Given the description of an element on the screen output the (x, y) to click on. 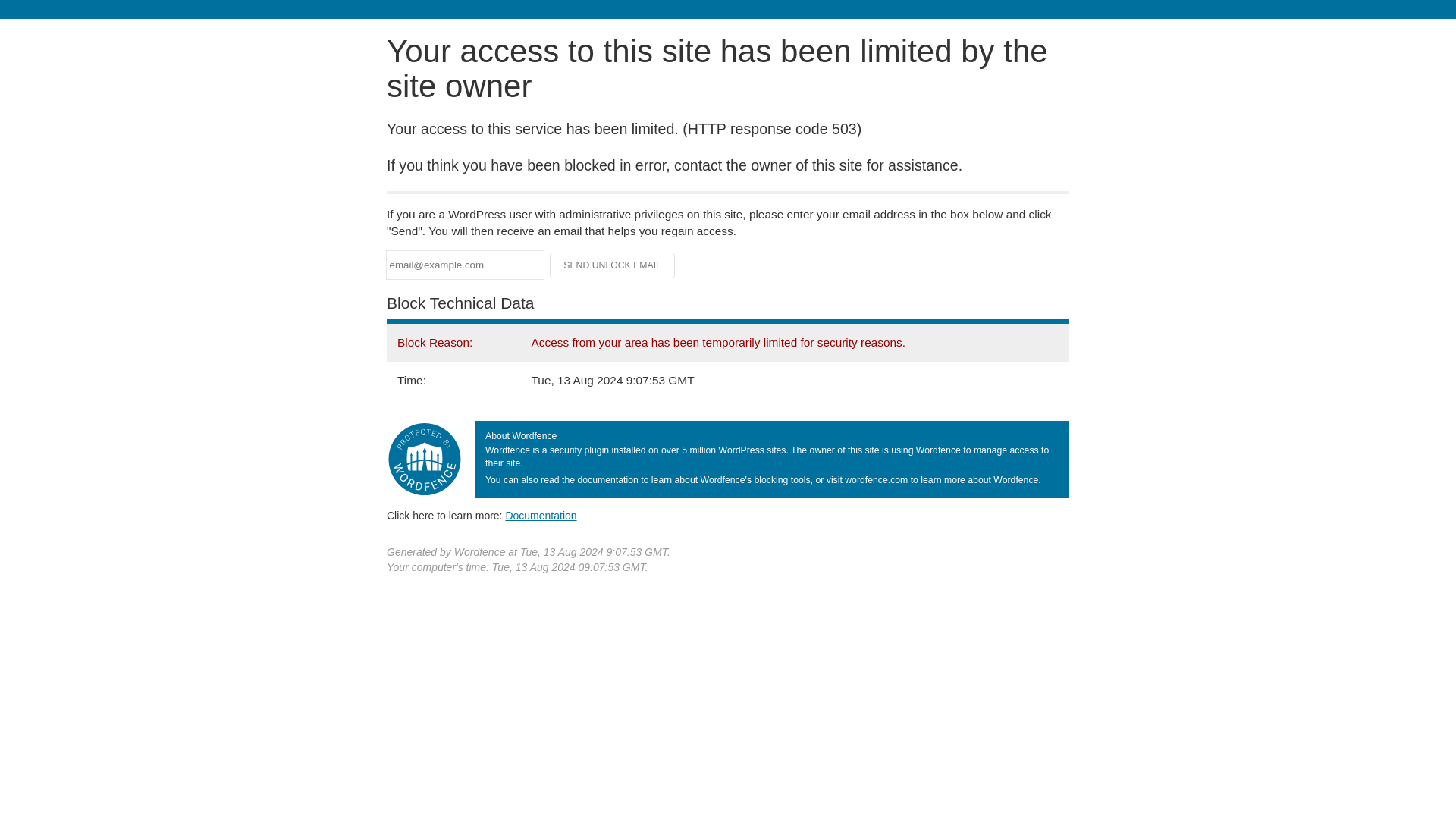
Send Unlock Email (612, 265)
Send Unlock Email (612, 265)
Documentation (540, 515)
